Given the description of an element on the screen output the (x, y) to click on. 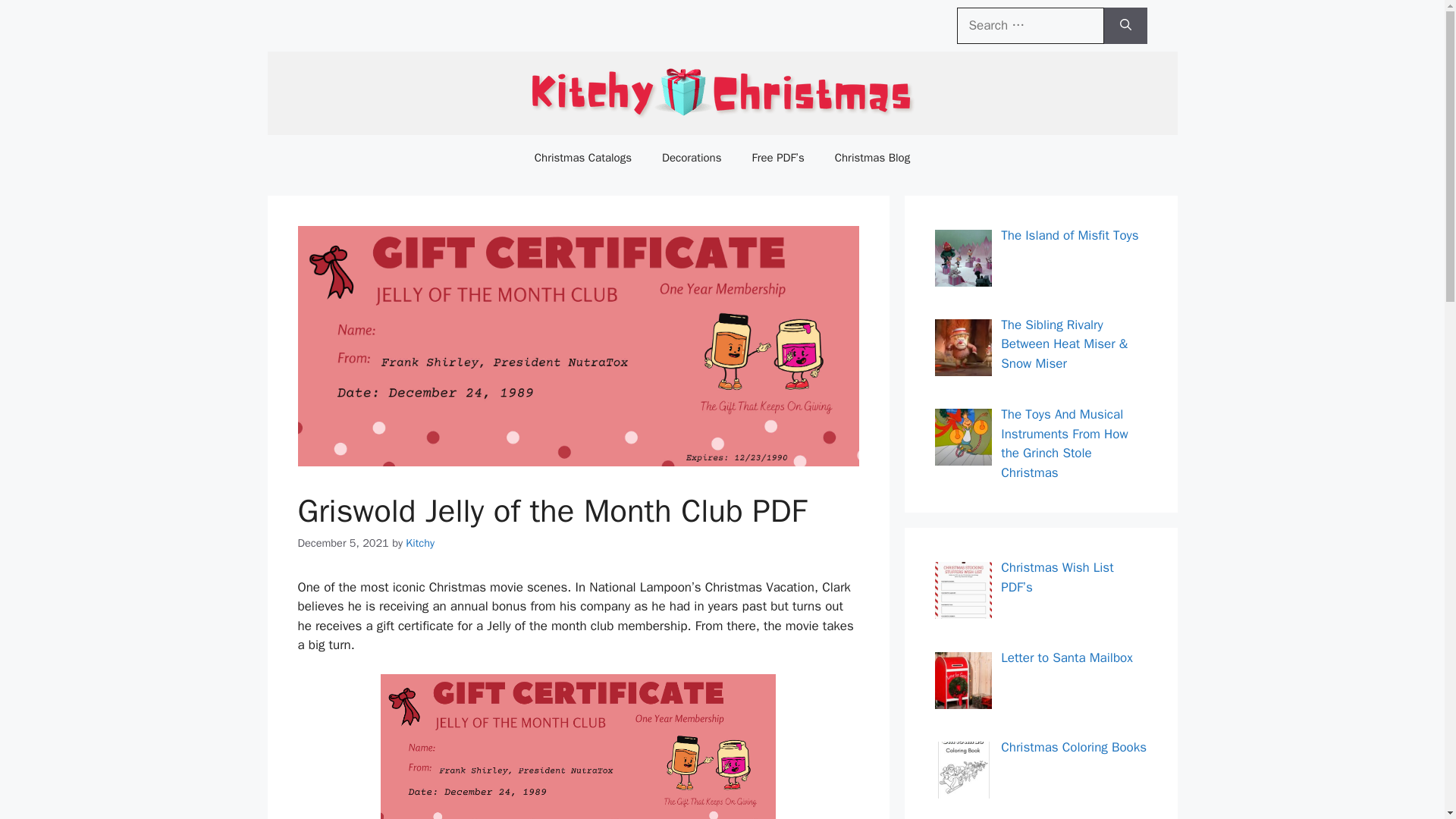
The Island of Misfit Toys (1069, 235)
Decorations (691, 157)
Letter to Santa Mailbox (1066, 657)
Kitchy (419, 542)
Christmas Blog (871, 157)
Search for: (1029, 25)
Christmas Catalogs (582, 157)
Christmas Coloring Books (1074, 747)
View all posts by Kitchy (419, 542)
